Given the description of an element on the screen output the (x, y) to click on. 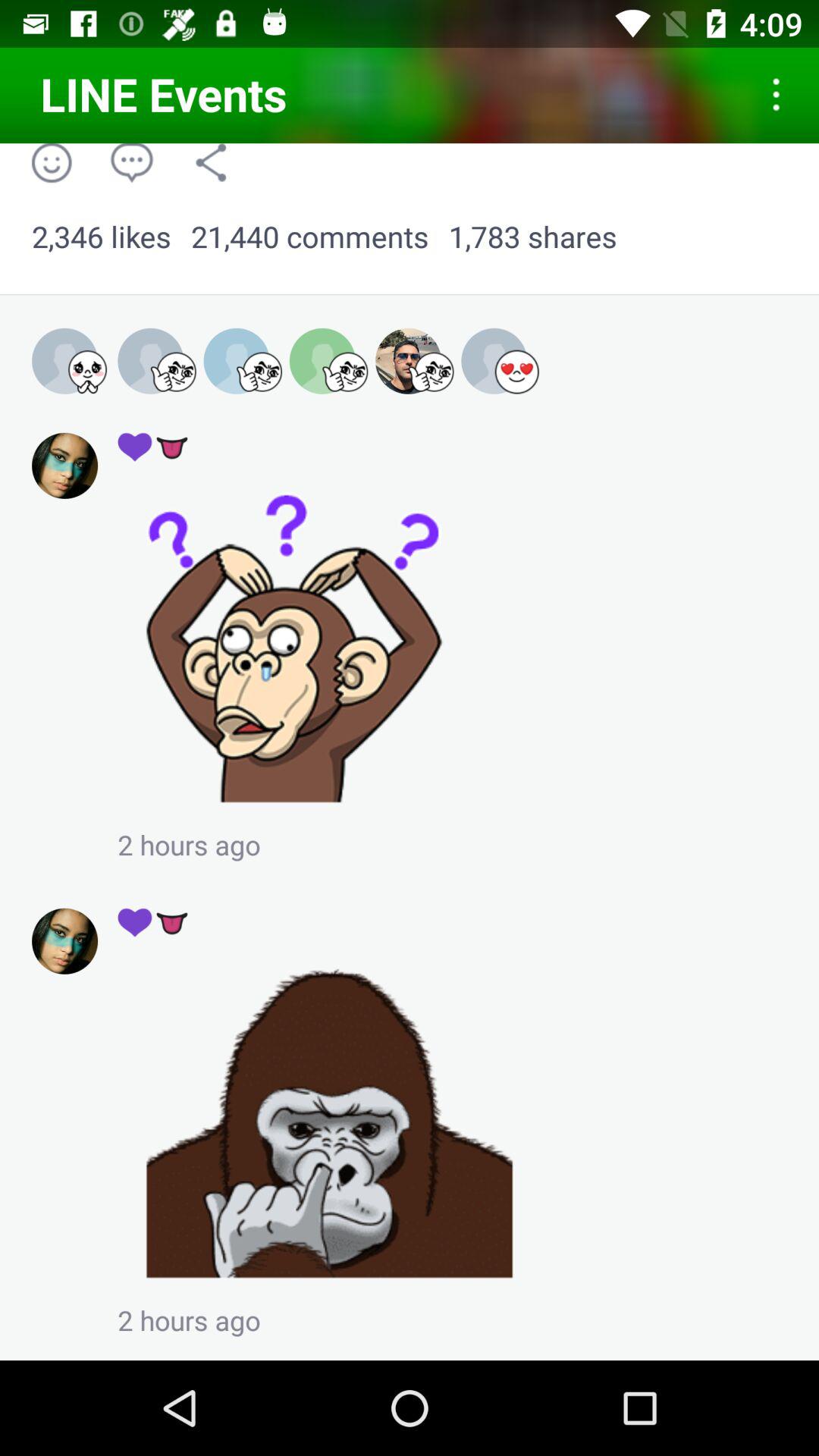
click the icon above 2,346 likes item (51, 162)
